Given the description of an element on the screen output the (x, y) to click on. 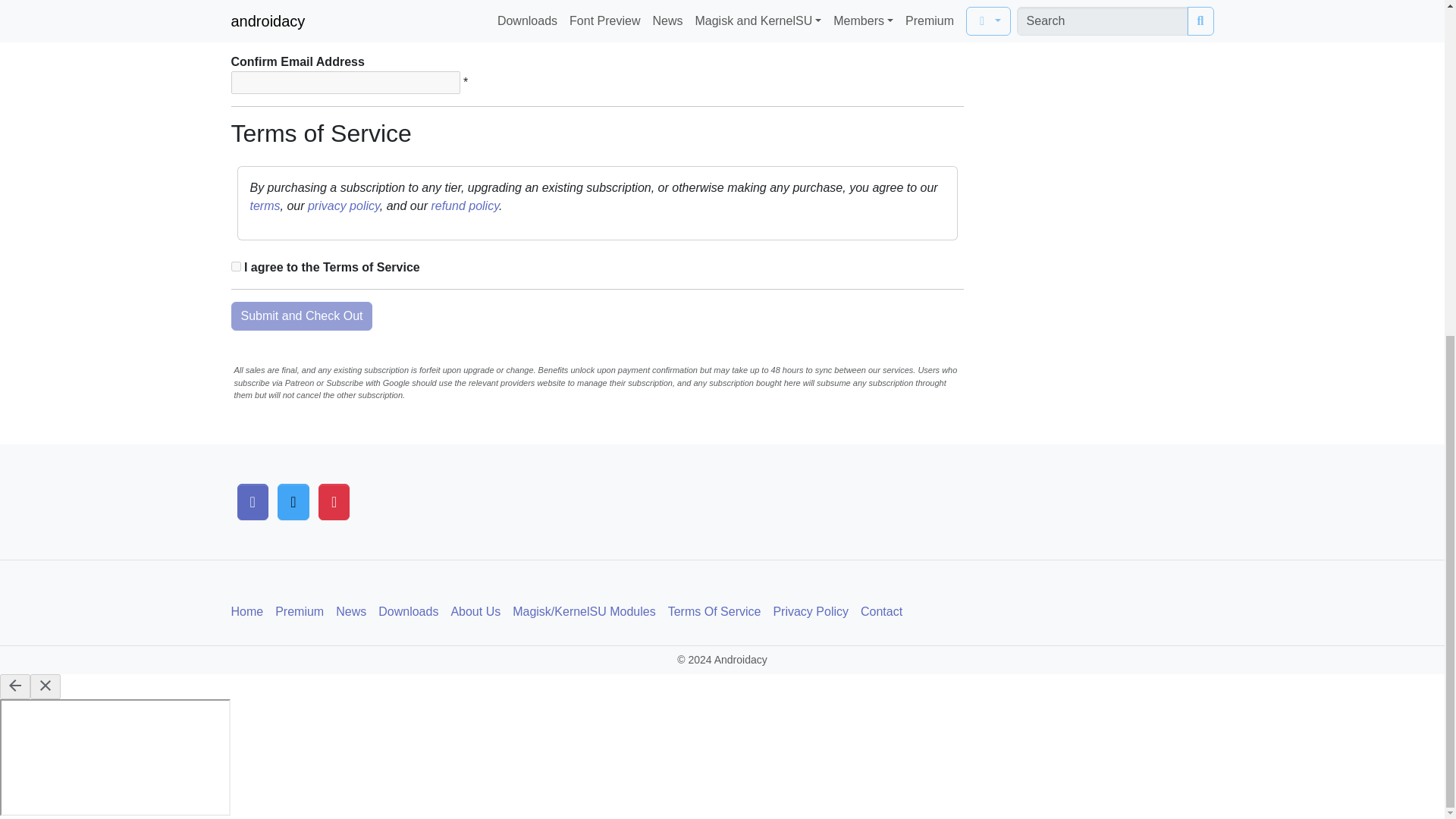
Submit and Check Out (301, 316)
terms (265, 205)
privacy policy (343, 205)
refund policy (464, 205)
1 (235, 266)
Required Field (465, 29)
Required Field (465, 82)
Submit and Check Out (301, 316)
